Given the description of an element on the screen output the (x, y) to click on. 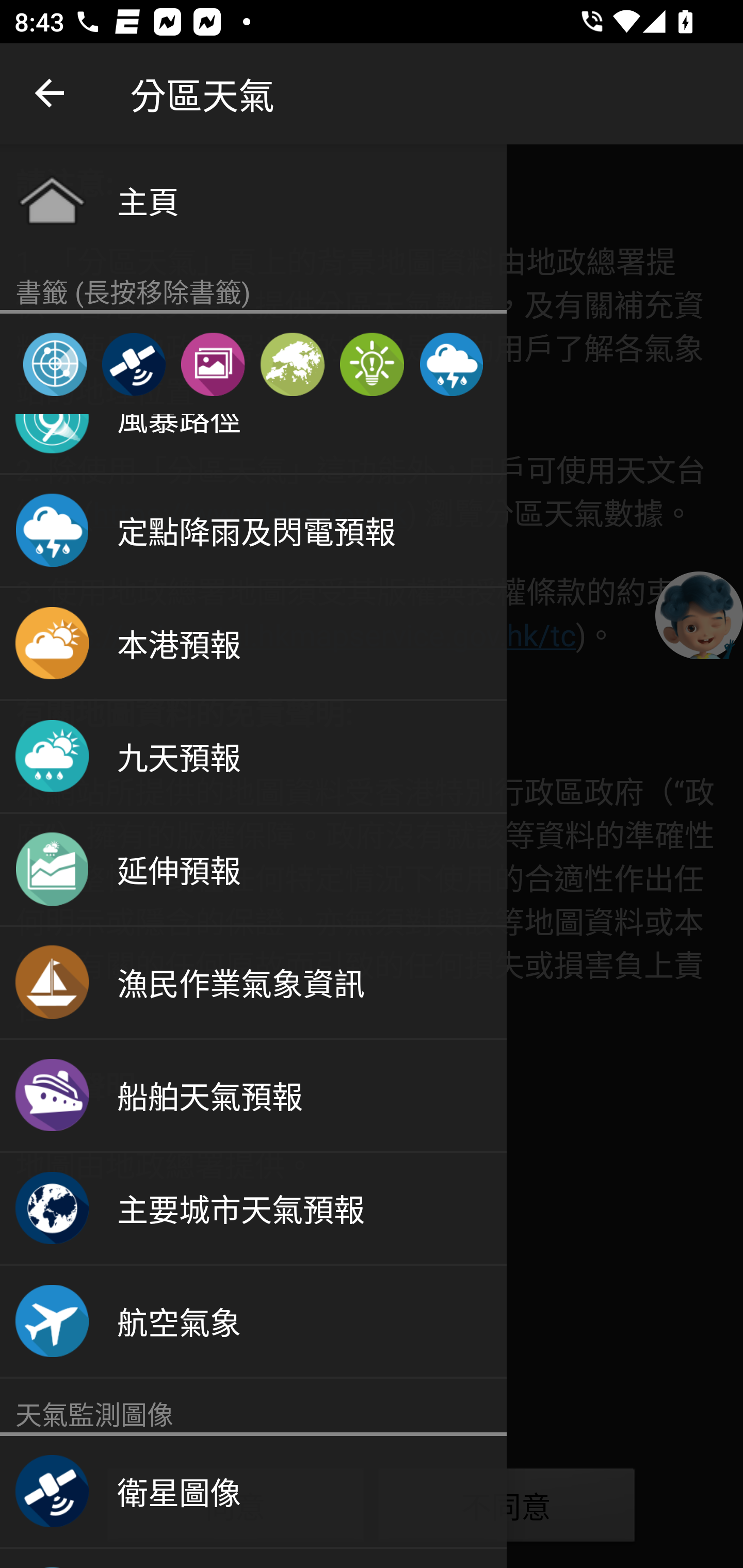
向上瀏覽 (50, 93)
主頁 (253, 199)
雷達圖像 (54, 364)
衛星圖像 (133, 364)
天氣照片 (212, 364)
分區天氣 (292, 364)
天氣提示 (371, 364)
定點降雨及閃電預報 (451, 364)
定點降雨及閃電預報 (253, 531)
本港預報 (253, 644)
九天預報 (253, 756)
延伸預報 (253, 869)
漁民作業氣象資訊 (253, 982)
船舶天氣預報 (253, 1095)
主要城市天氣預報 (253, 1208)
航空氣象 (253, 1321)
衛星圖像 (253, 1491)
